Given the description of an element on the screen output the (x, y) to click on. 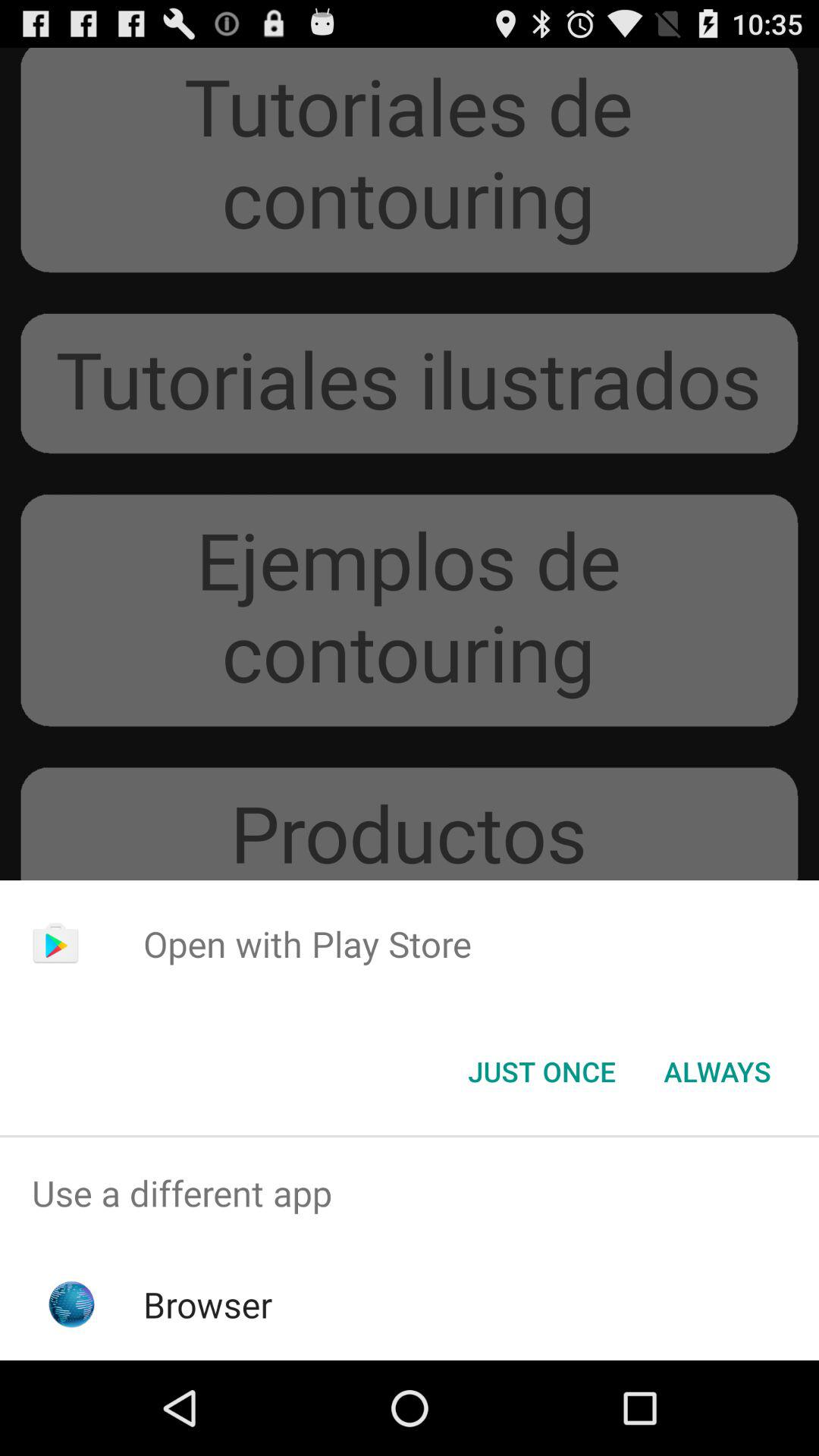
scroll to the just once (541, 1071)
